Given the description of an element on the screen output the (x, y) to click on. 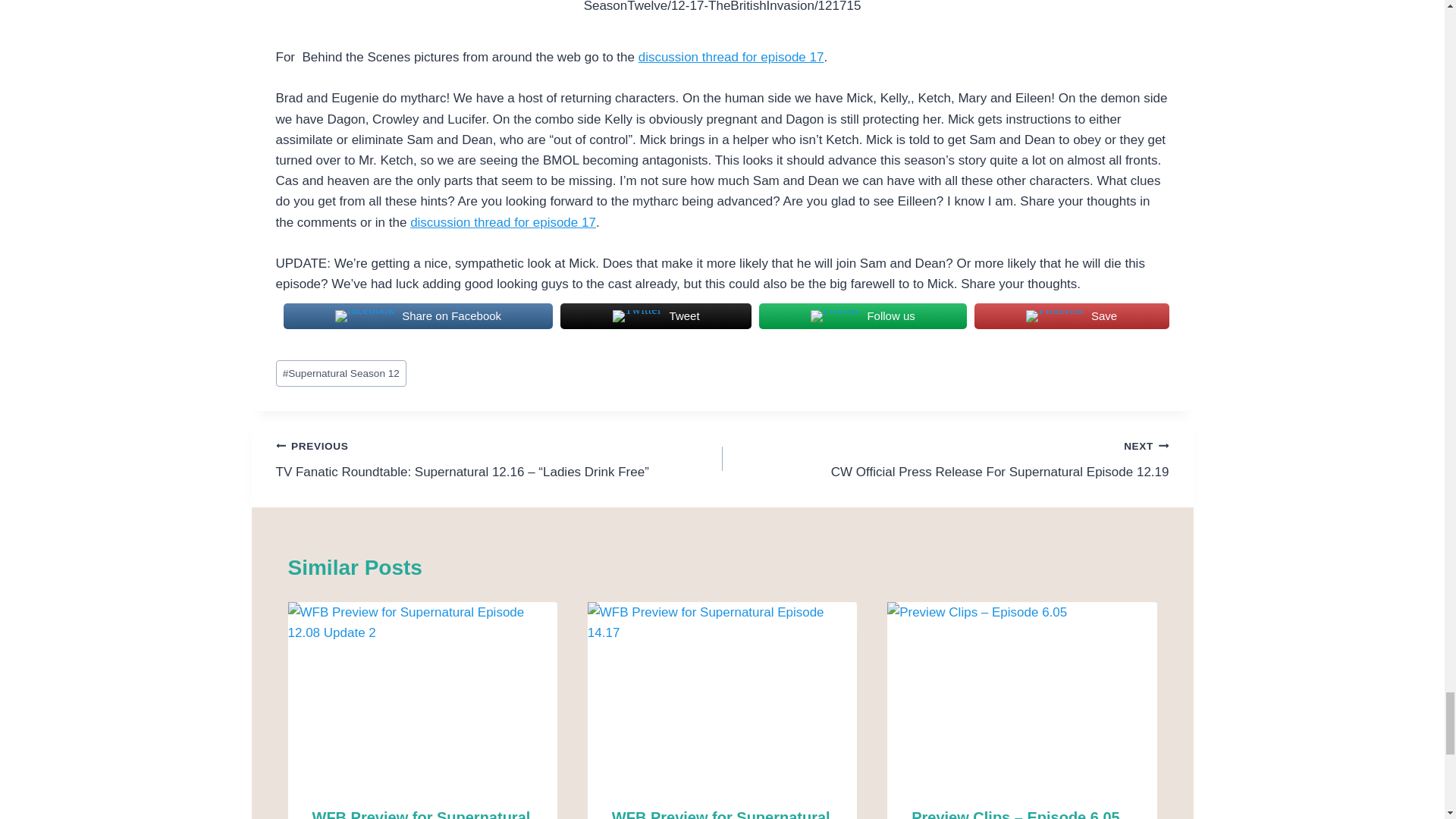
Tweet (655, 316)
discussion thread for episode 17 (731, 56)
Supernatural Season 12 (341, 373)
Share on Facebook (418, 316)
Follow us (862, 316)
Save (1071, 316)
discussion thread for episode 17 (502, 222)
